Given the description of an element on the screen output the (x, y) to click on. 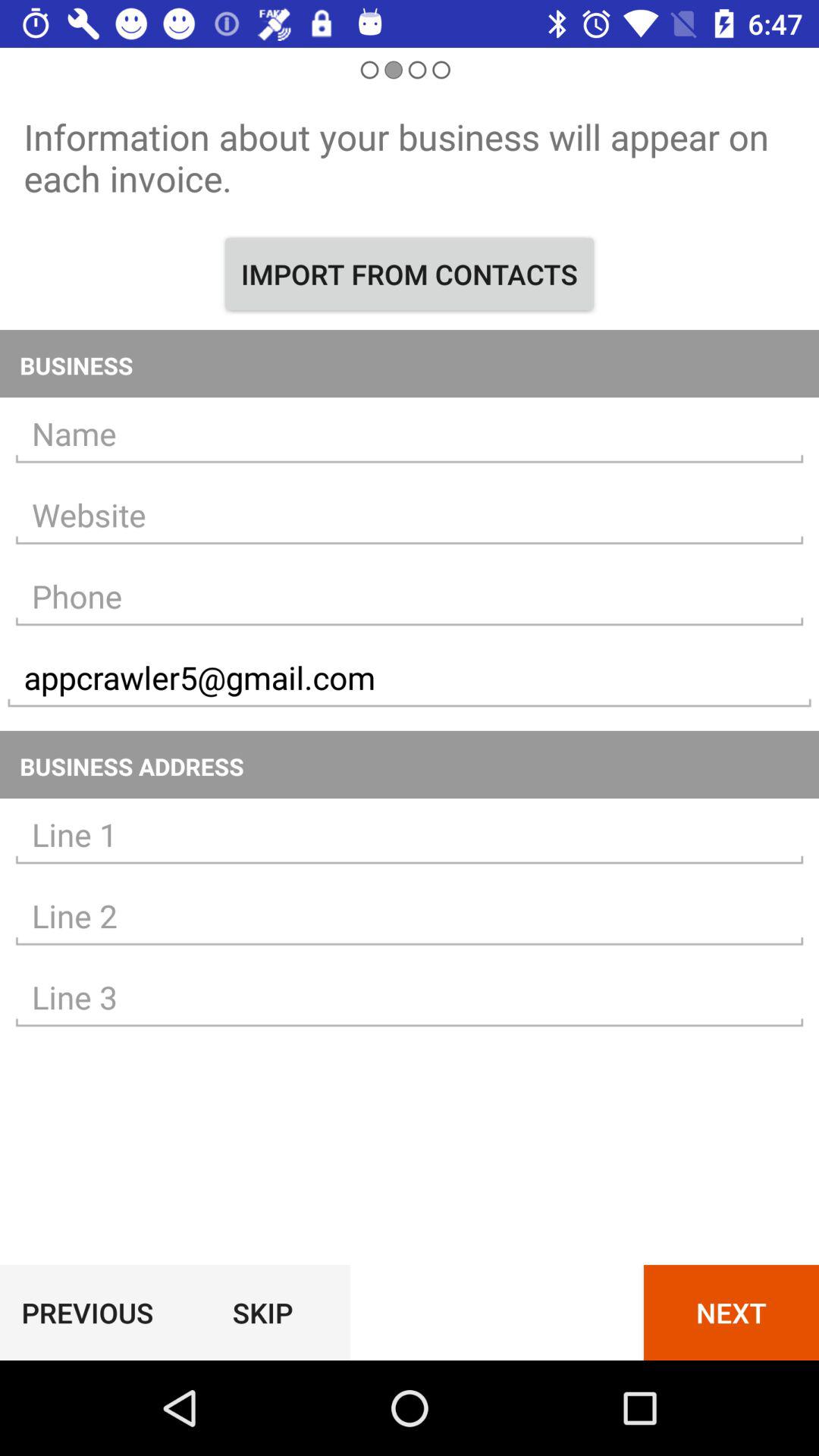
enter business address for invoice (409, 834)
